Given the description of an element on the screen output the (x, y) to click on. 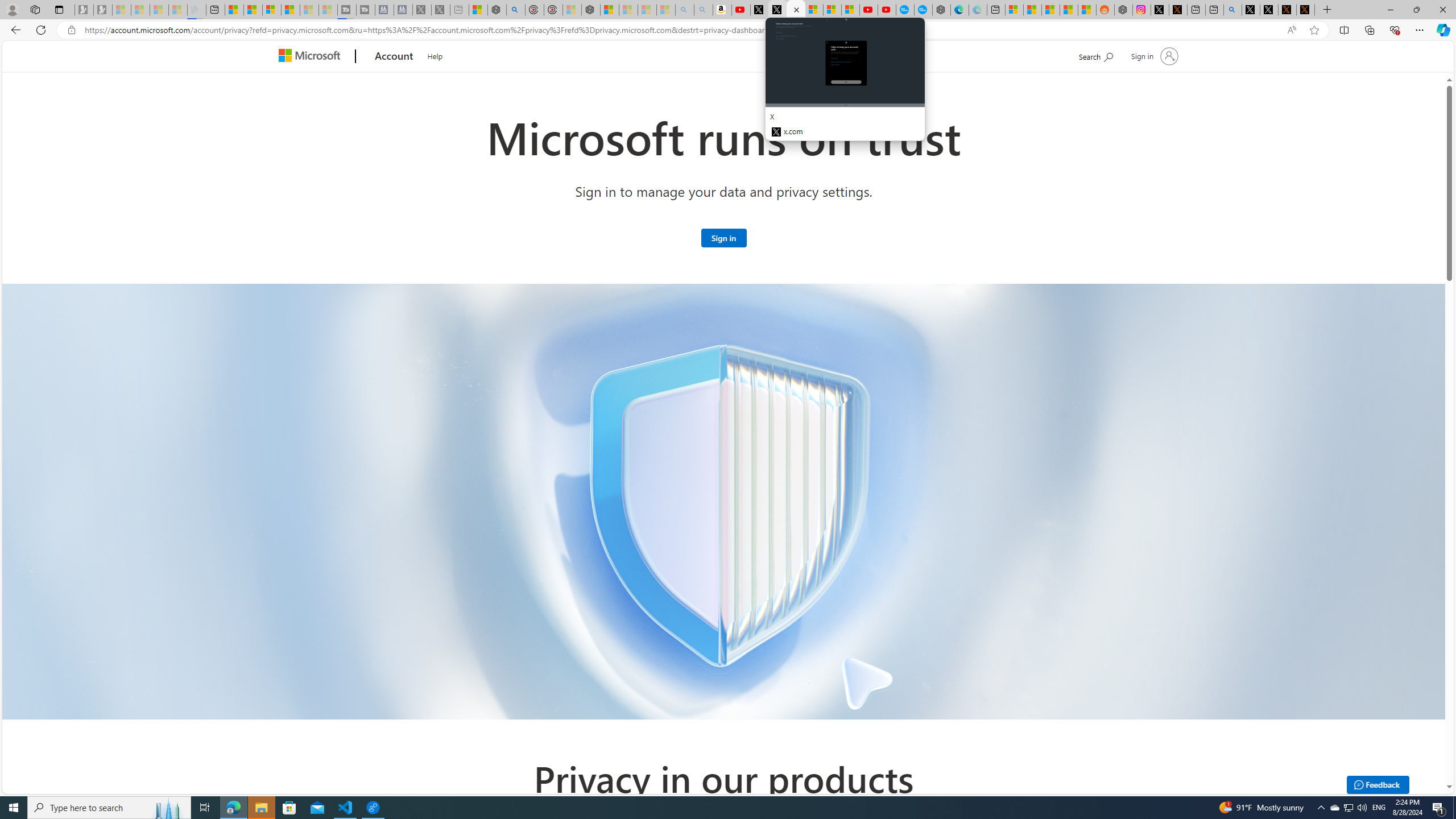
Microsoft (311, 56)
Sign in to your Microsoft account (723, 237)
